Given the description of an element on the screen output the (x, y) to click on. 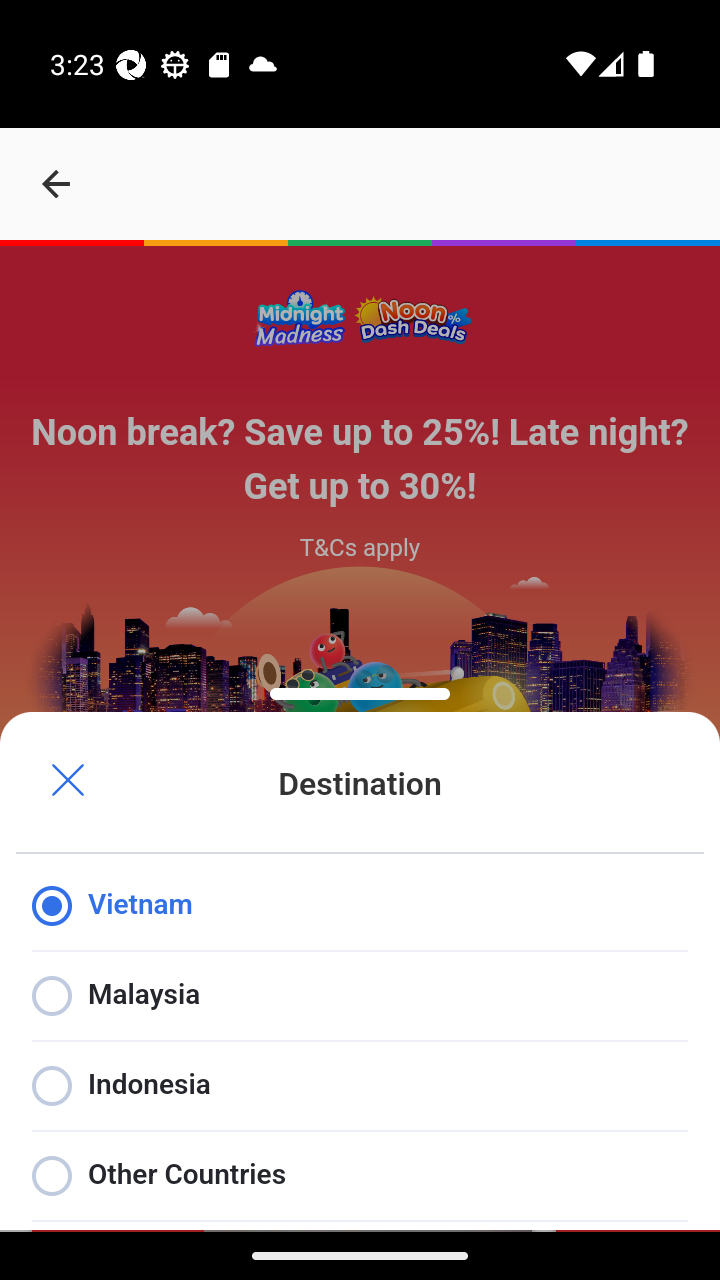
navigation_button (56, 184)
